Given the description of an element on the screen output the (x, y) to click on. 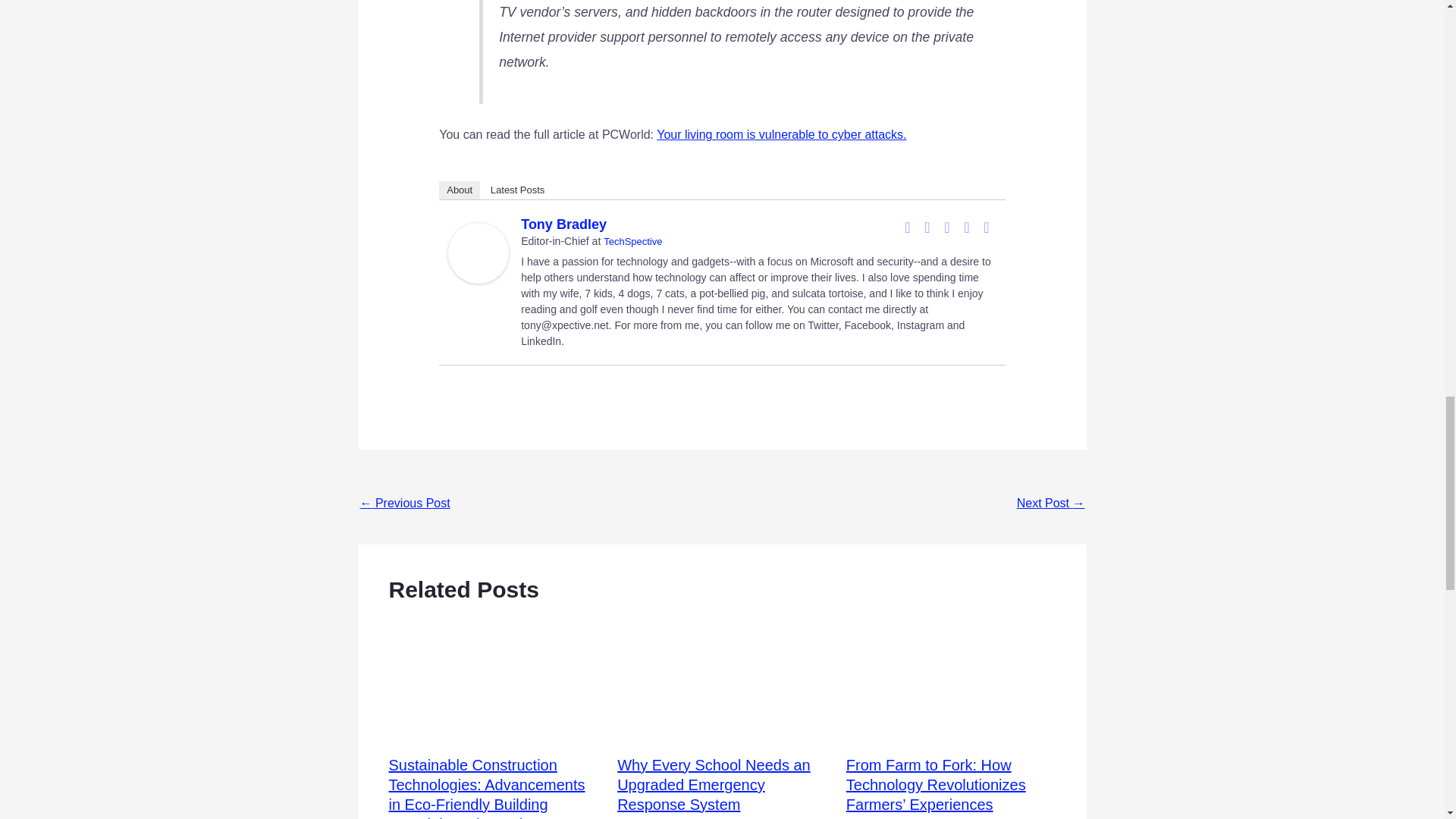
UPS joins the ranks of data breach victims (404, 504)
LinkedIn (927, 227)
Reinventing the butter knife (1050, 504)
About (459, 189)
YouTube (966, 227)
Tony Bradley (478, 251)
Email (985, 227)
Your living room is vulnerable to cyber attacks. (780, 133)
Instagram (946, 227)
Facebook (907, 227)
Latest Posts (518, 189)
Tony Bradley (564, 224)
